Given the description of an element on the screen output the (x, y) to click on. 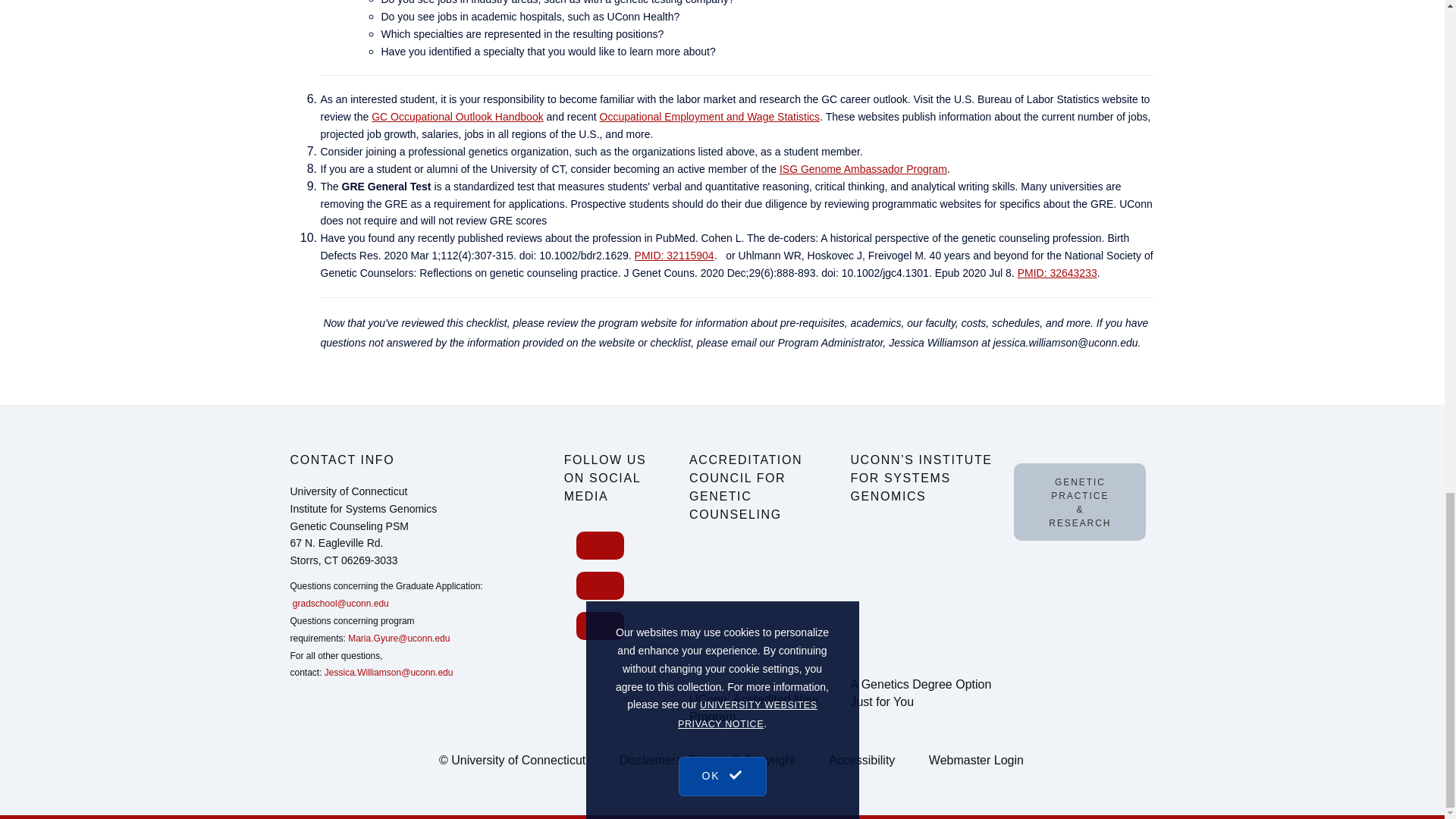
ACGC Education Programs (759, 608)
ISG Education  (922, 591)
